Given the description of an element on the screen output the (x, y) to click on. 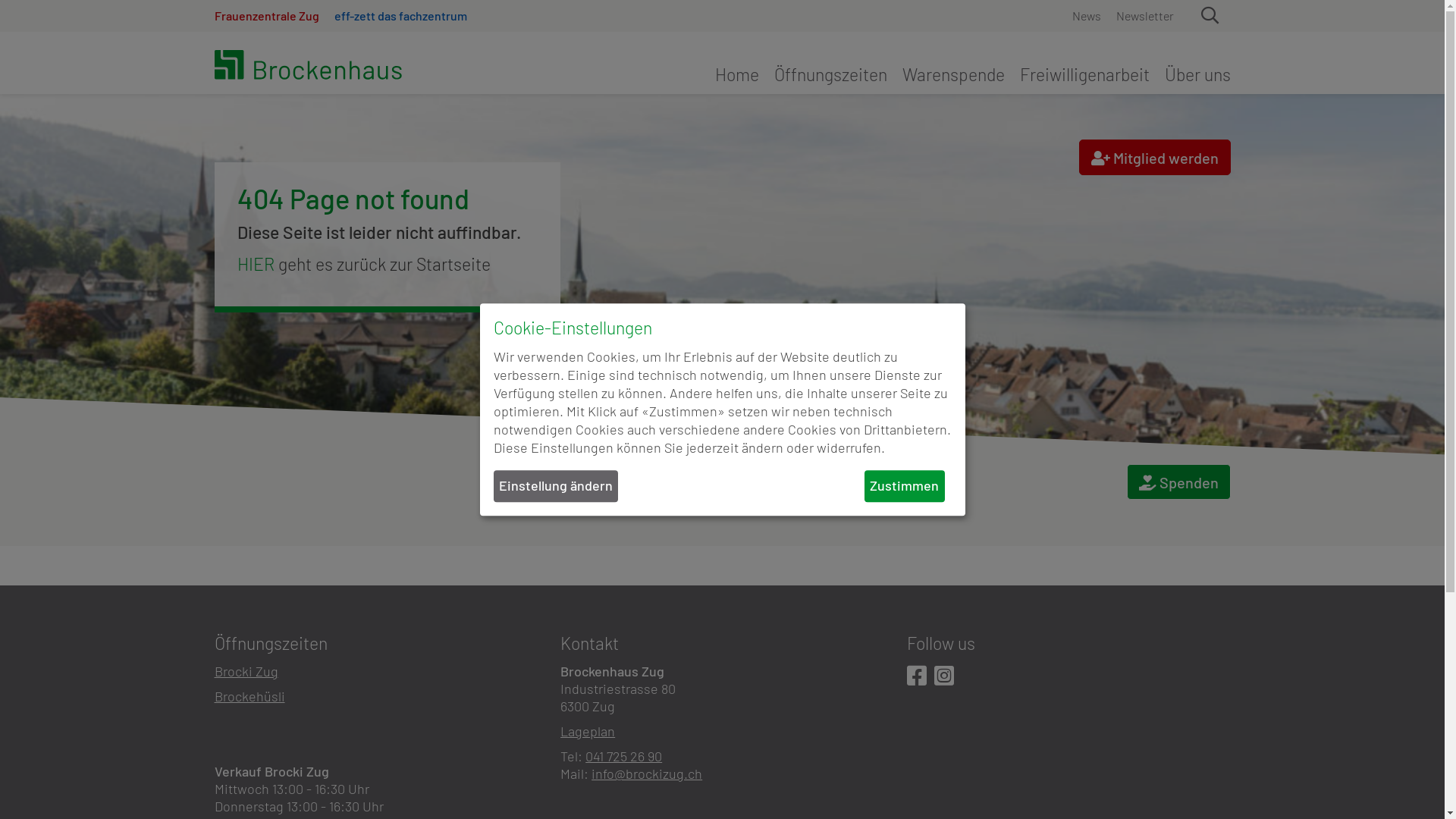
Zustimmen Element type: text (904, 485)
eff-zett das fachzentrum Element type: text (396, 15)
Freiwilligenarbeit Element type: text (1083, 74)
041 725 26 90 Element type: text (623, 755)
Mitglied werden Element type: text (1154, 157)
News Element type: text (1090, 15)
Instagram Element type: hover (943, 675)
Brockenhaus Element type: hover (342, 67)
Home Element type: text (739, 74)
Spenden Element type: text (1178, 481)
Facebook Element type: hover (916, 675)
Brocki Zug Element type: text (245, 670)
info@brockizug.ch Element type: text (646, 773)
Newsletter Element type: text (1140, 15)
Frauenzentrale Zug Element type: text (269, 15)
HIER Element type: text (254, 263)
Lageplan Element type: text (587, 730)
Warenspende Element type: text (953, 74)
